Given the description of an element on the screen output the (x, y) to click on. 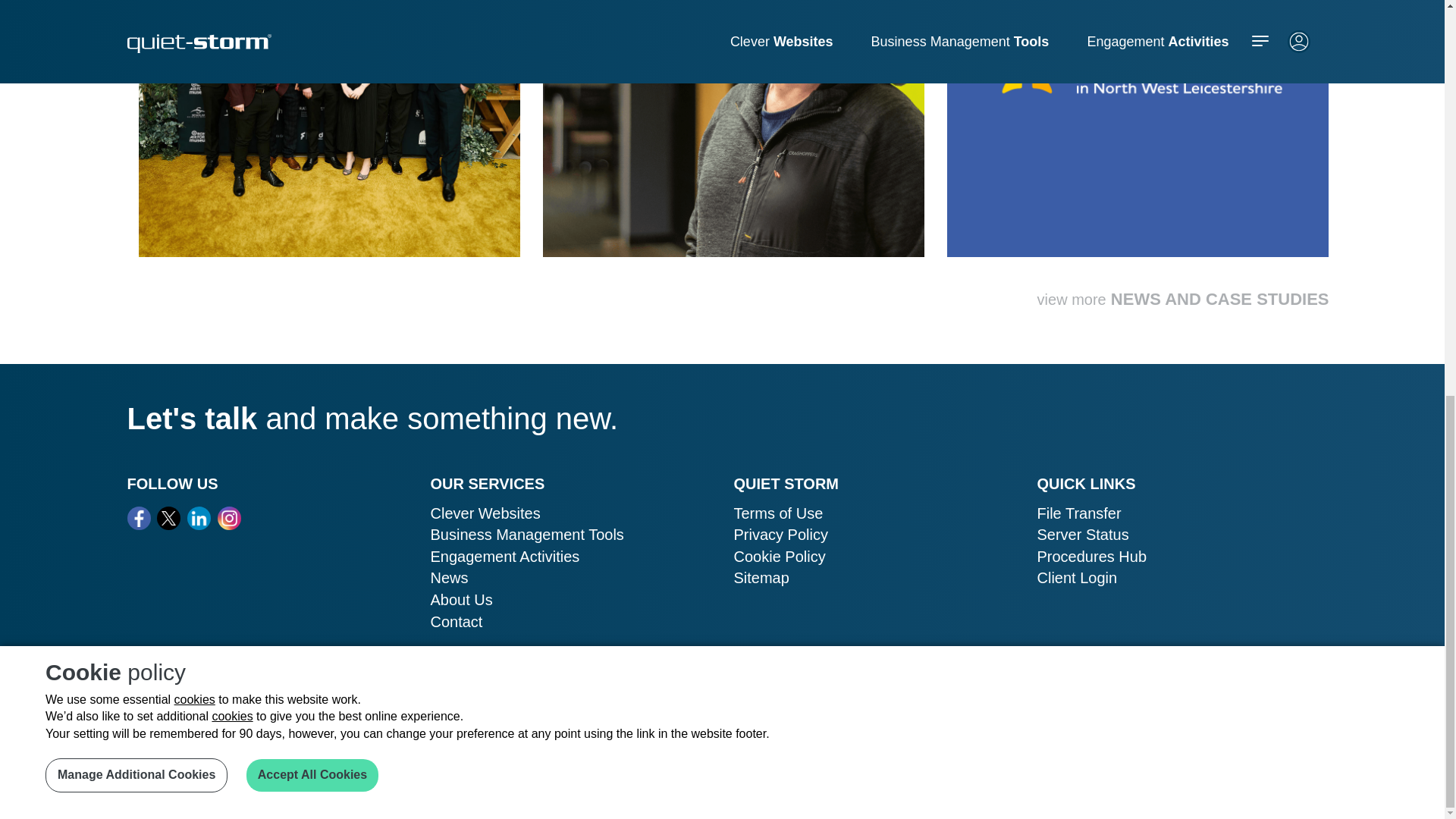
Manage Additional Cookies (136, 14)
Accept All Cookies (312, 13)
view more NEWS AND CASE STUDIES (1182, 298)
Facebook (139, 517)
LinkedIn (199, 517)
Instagram (228, 517)
